Given the description of an element on the screen output the (x, y) to click on. 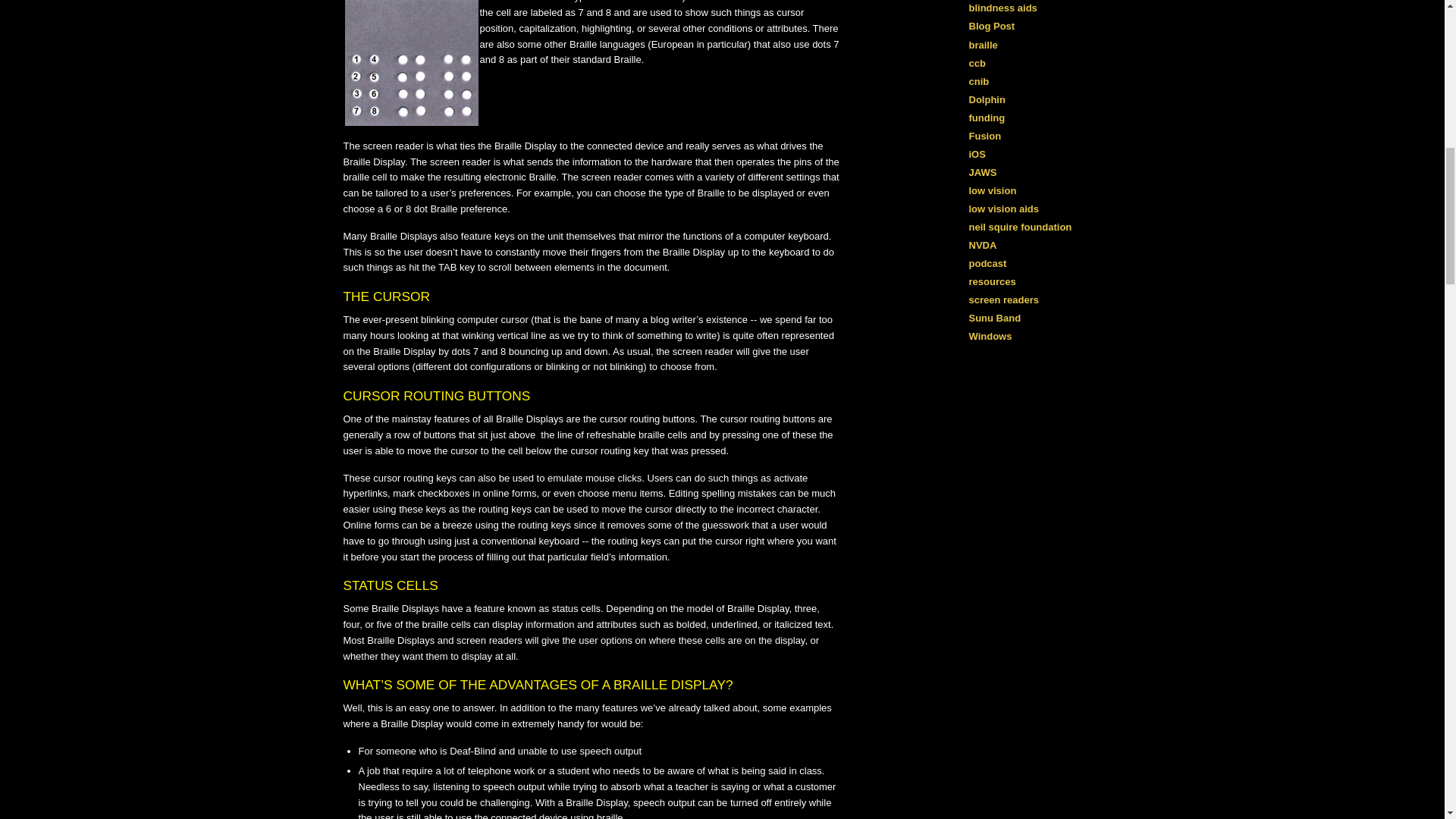
Show articles tagged braille (983, 44)
Show articles tagged blindness aids (1002, 7)
Show articles tagged Blog Post (991, 25)
